Given the description of an element on the screen output the (x, y) to click on. 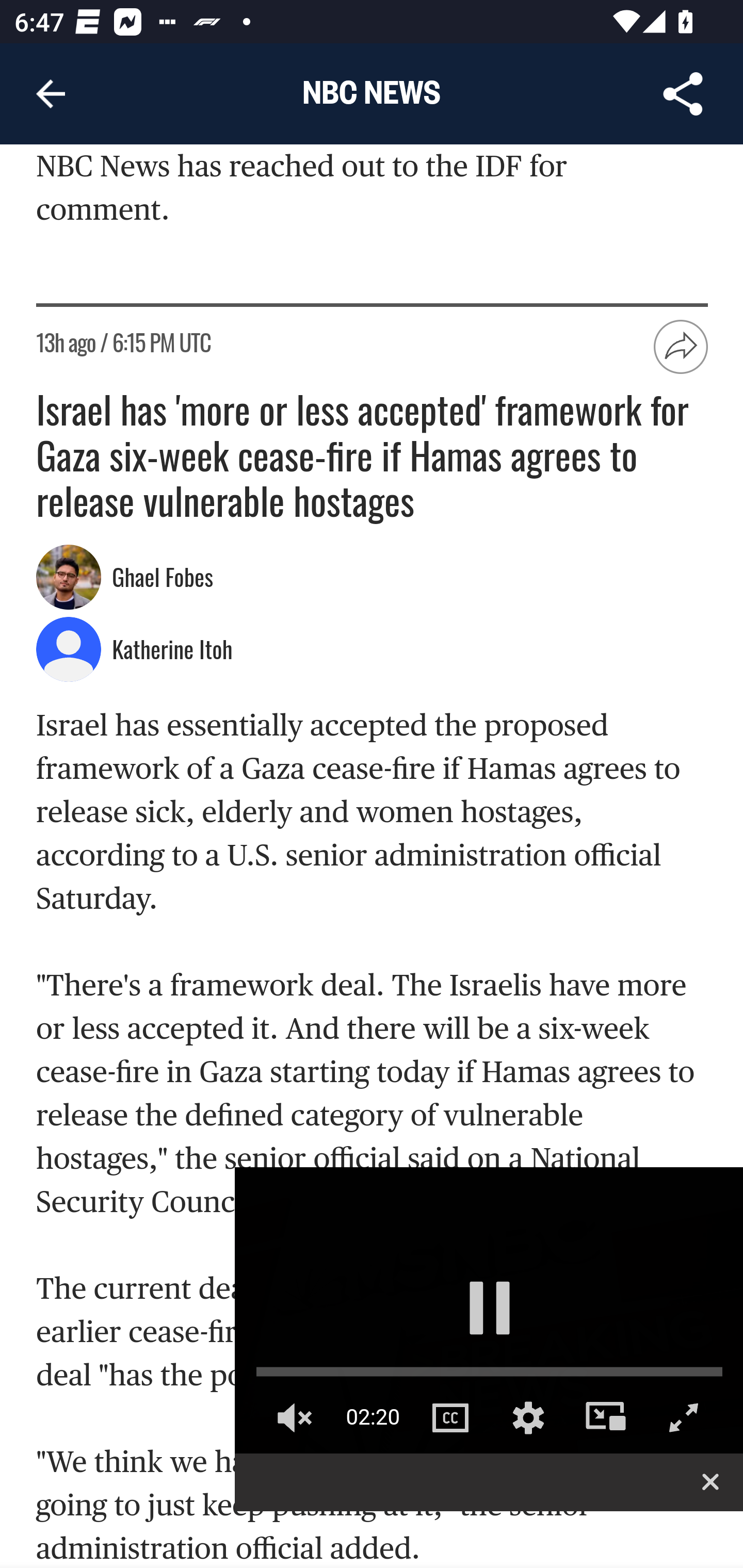
Navigate up (50, 93)
Share Article, button (683, 94)
open social share icon list (681, 347)
ghael-fobes-ncpn1300094 (69, 578)
Ghael Fobes (165, 578)
